Given the description of an element on the screen output the (x, y) to click on. 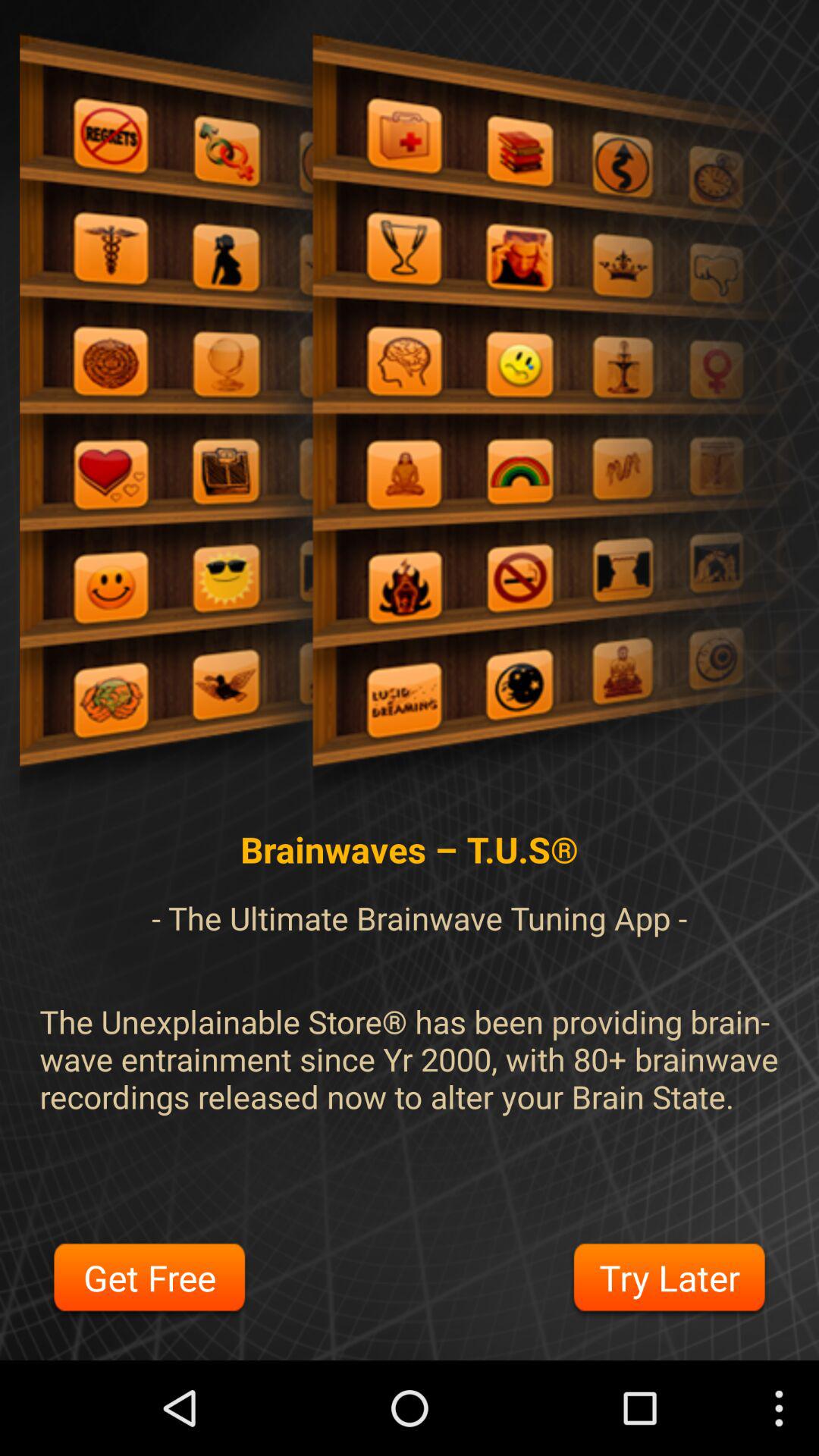
swipe to the get free (149, 1280)
